Given the description of an element on the screen output the (x, y) to click on. 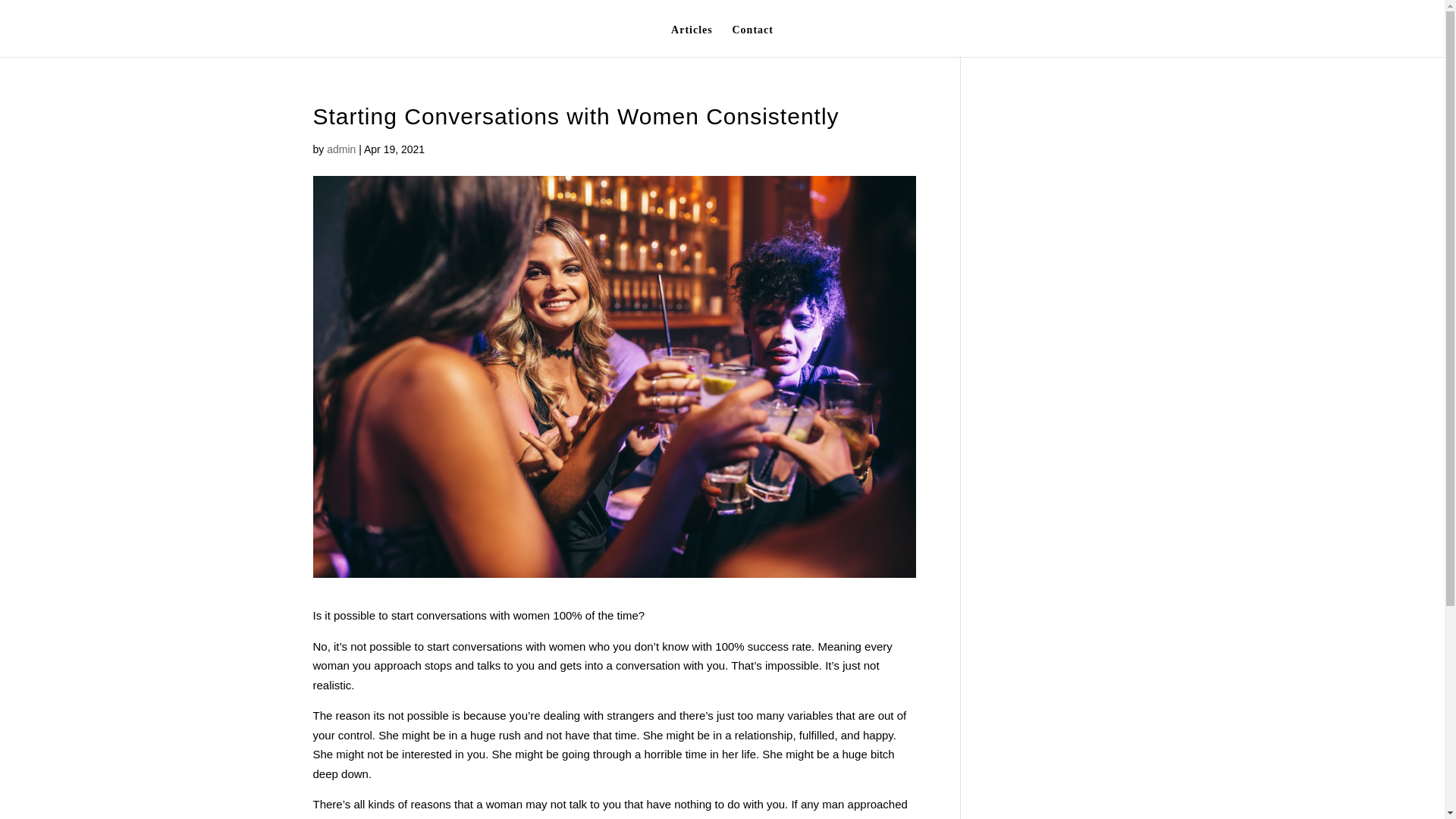
Posts by admin (340, 149)
Contact (752, 40)
Articles (692, 40)
admin (340, 149)
